Given the description of an element on the screen output the (x, y) to click on. 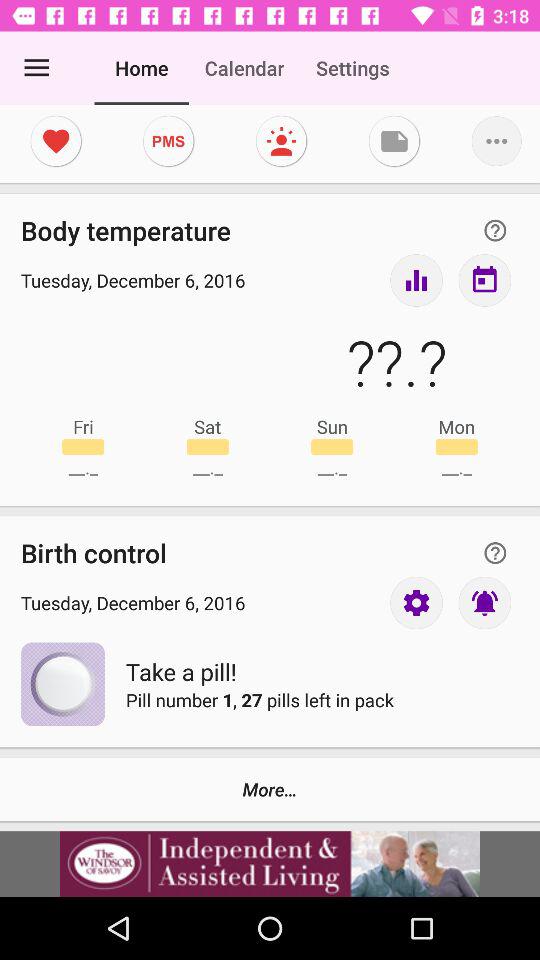
screen page (281, 141)
